Given the description of an element on the screen output the (x, y) to click on. 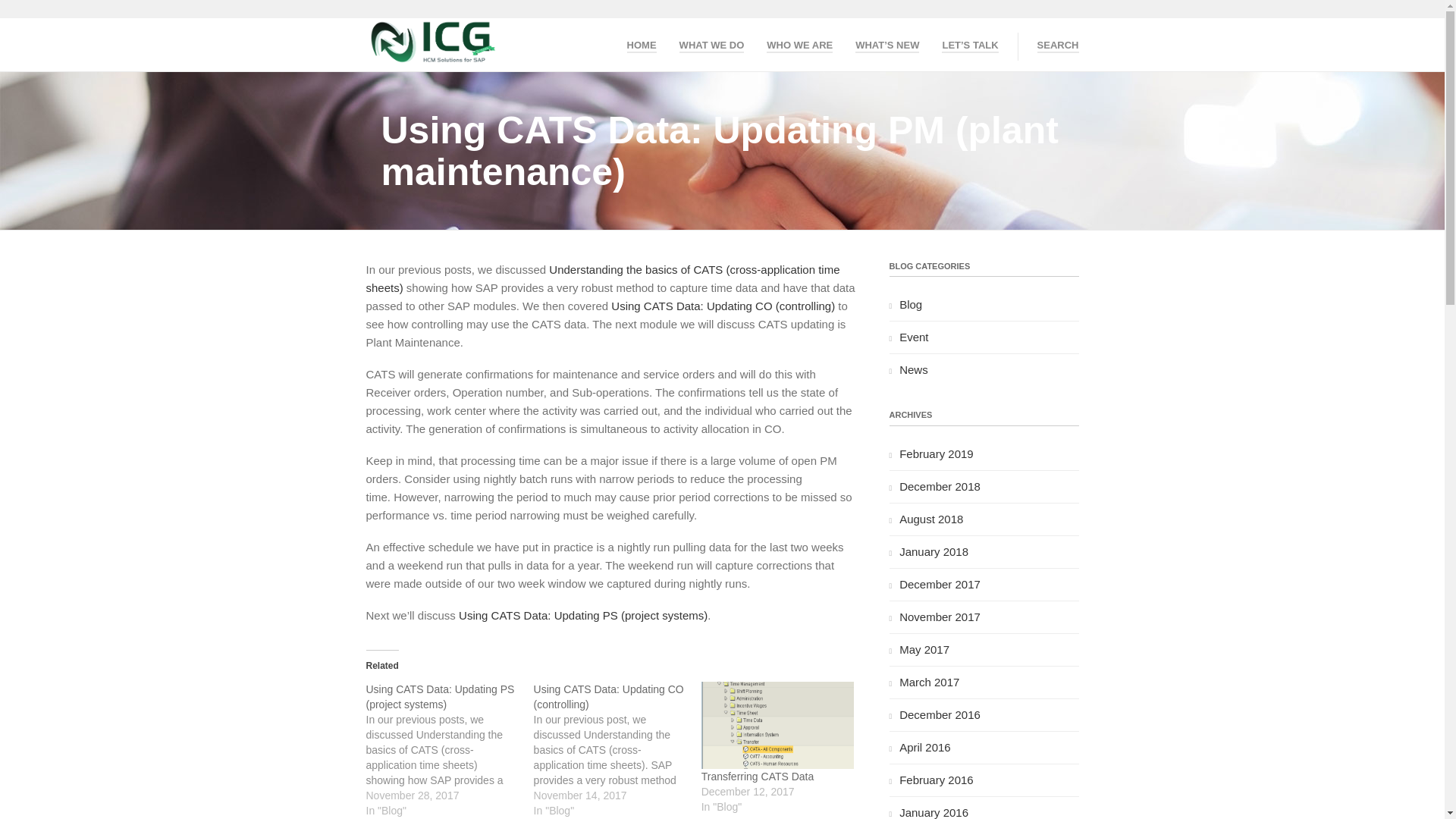
SEARCH (1057, 42)
Transferring CATS Data (757, 776)
WHAT WE DO (711, 42)
WHO WE ARE (799, 42)
Transferring CATS Data (757, 776)
HOME (641, 42)
Event (913, 336)
News (913, 369)
Blog (910, 304)
Transferring CATS Data (777, 725)
